Given the description of an element on the screen output the (x, y) to click on. 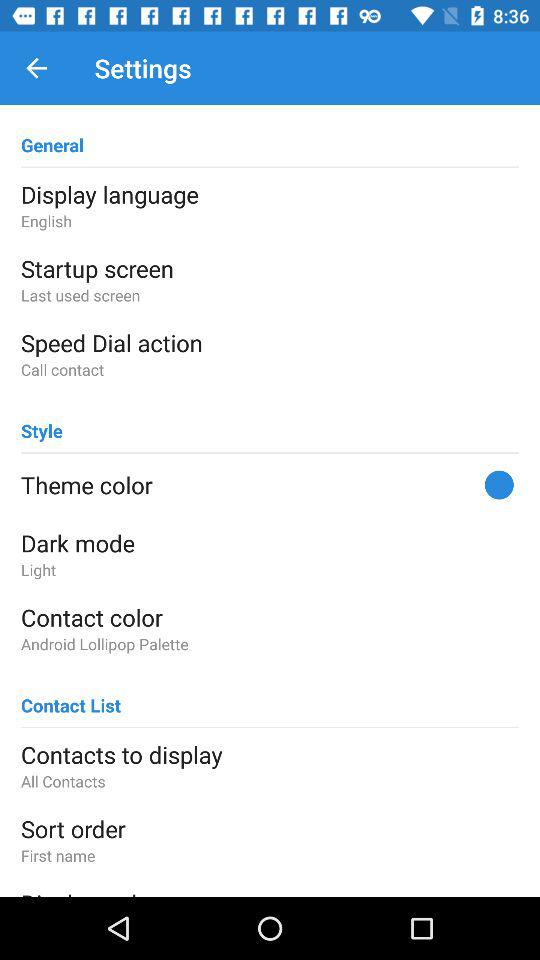
launch speed dial action (270, 342)
